Given the description of an element on the screen output the (x, y) to click on. 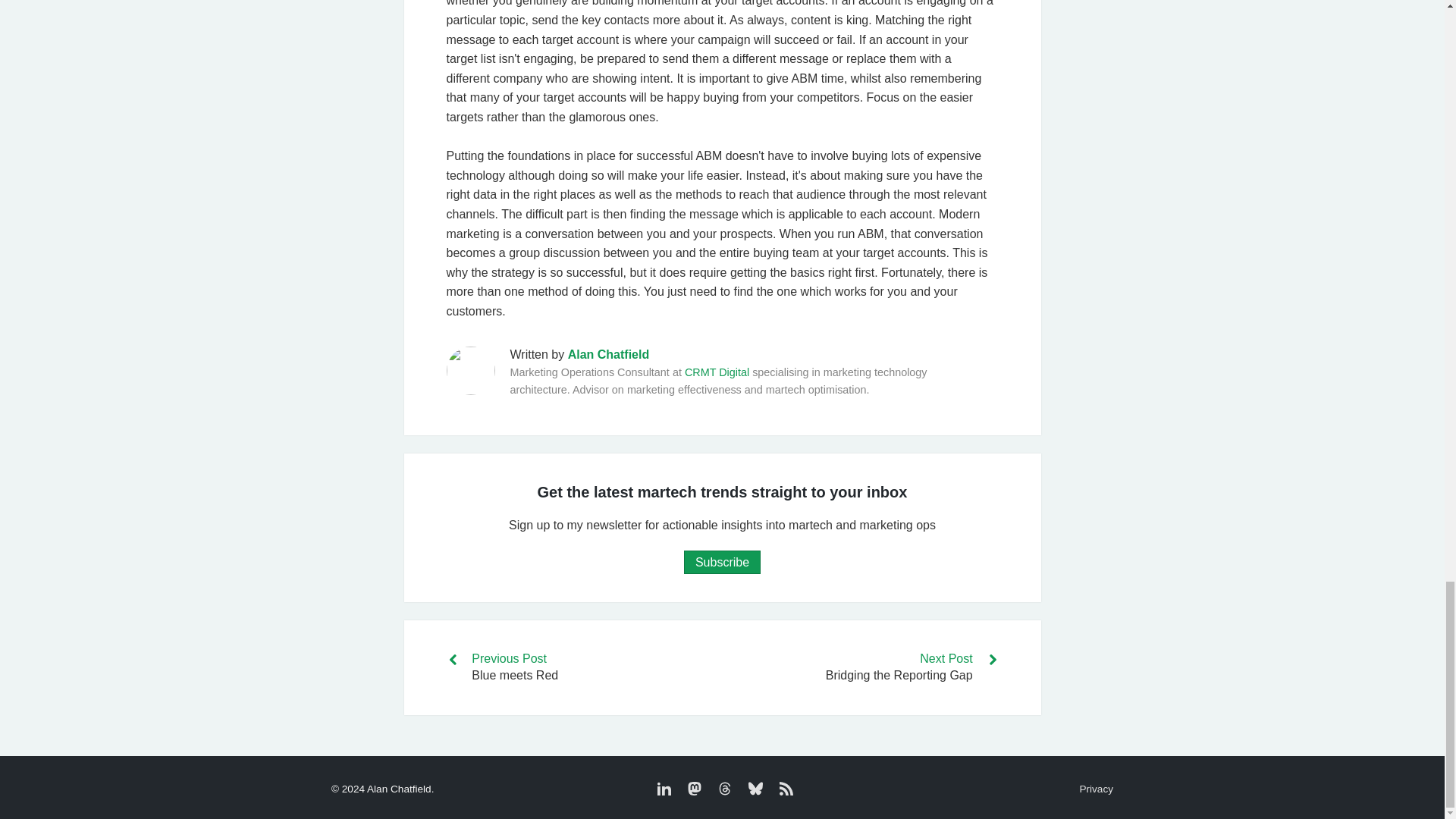
RSS Feed (782, 791)
CRMT Digital (716, 372)
Subscribe (722, 562)
Alan Chatfield (608, 354)
Privacy (1095, 788)
Alan Chatfield (608, 354)
